Given the description of an element on the screen output the (x, y) to click on. 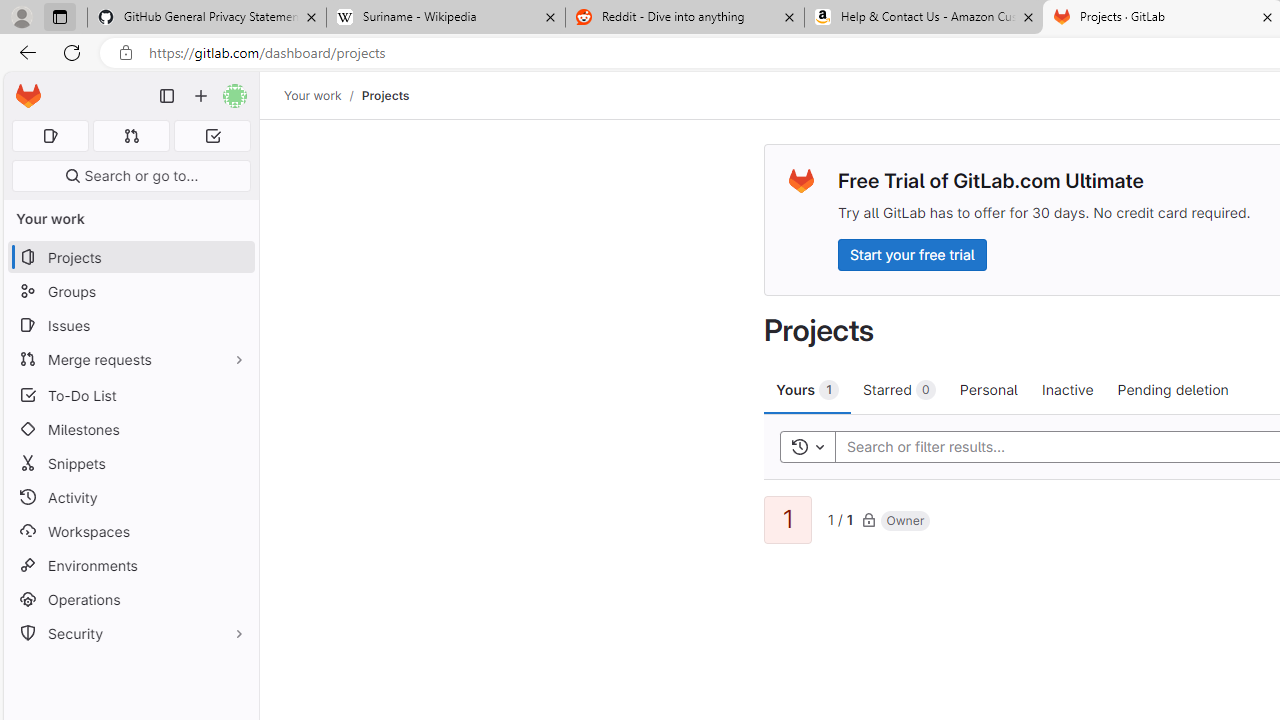
To-Do list 0 (212, 136)
Groups (130, 291)
Projects (384, 95)
Milestones (130, 429)
Security (130, 633)
Yours 1 (808, 389)
Environments (130, 564)
Assigned issues 0 (50, 136)
